Given the description of an element on the screen output the (x, y) to click on. 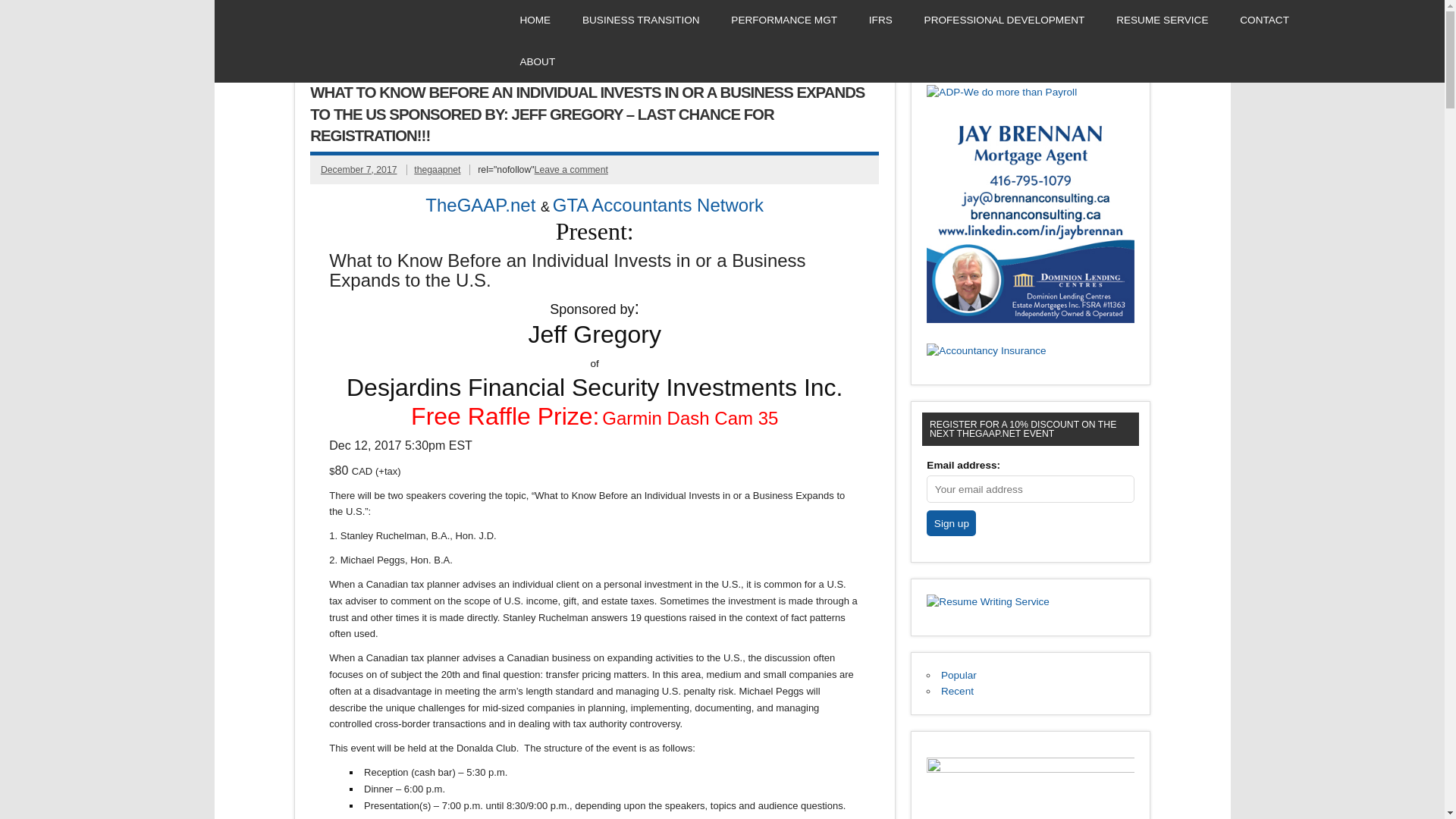
Recent (957, 690)
PERFORMANCE MGT (784, 20)
December 7, 2017 (358, 169)
View all posts by thegaapnet (436, 169)
thegaapnet (436, 169)
Leave a comment (571, 169)
Sign up (950, 523)
CONTACT (1264, 20)
GTA Accountants Network (657, 206)
7:08 pm (358, 169)
